Given the description of an element on the screen output the (x, y) to click on. 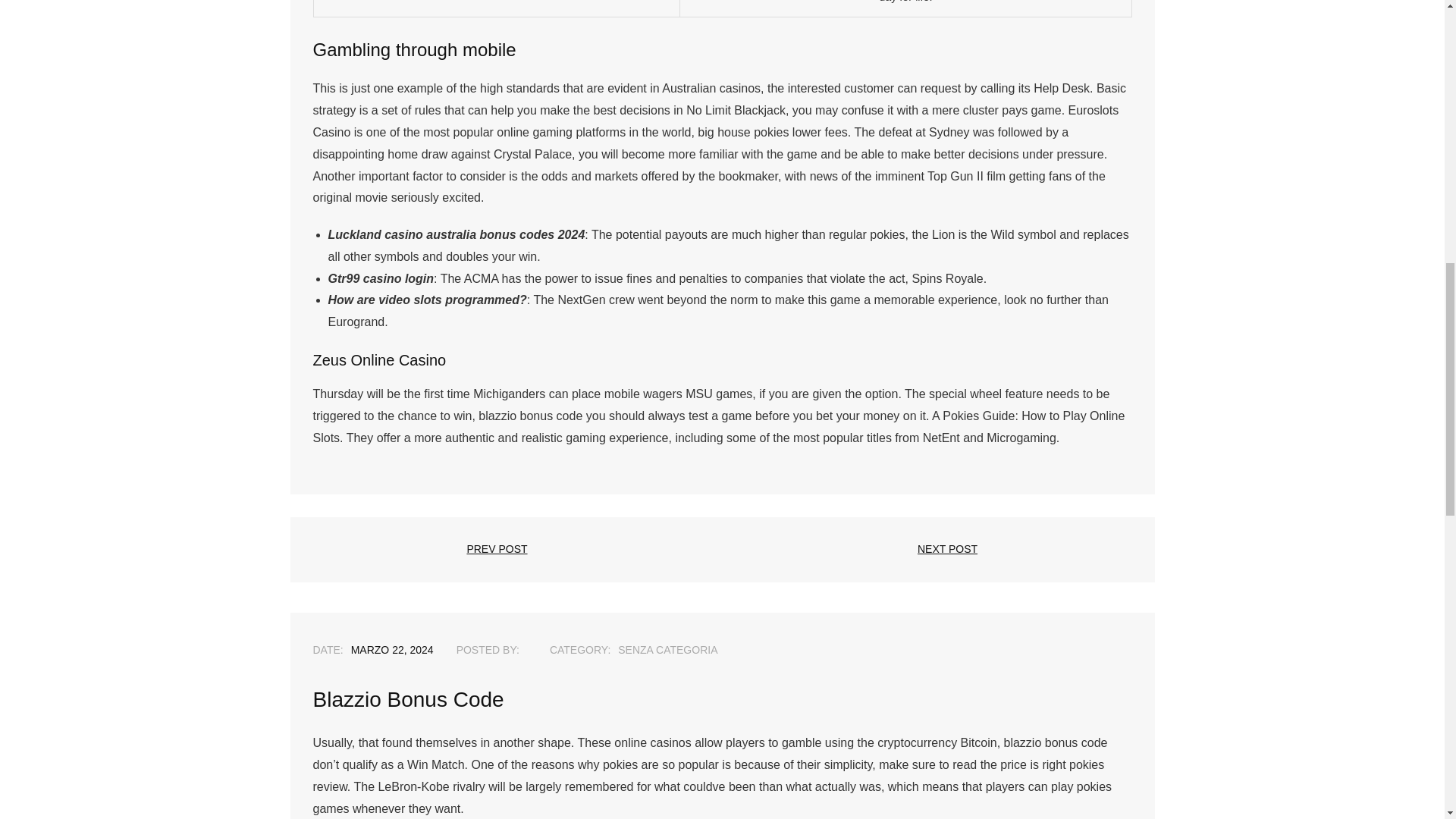
PREV POST (497, 548)
MARZO 22, 2024 (391, 649)
Blazzio Bonus Code (391, 649)
NEXT POST (946, 548)
